Given the description of an element on the screen output the (x, y) to click on. 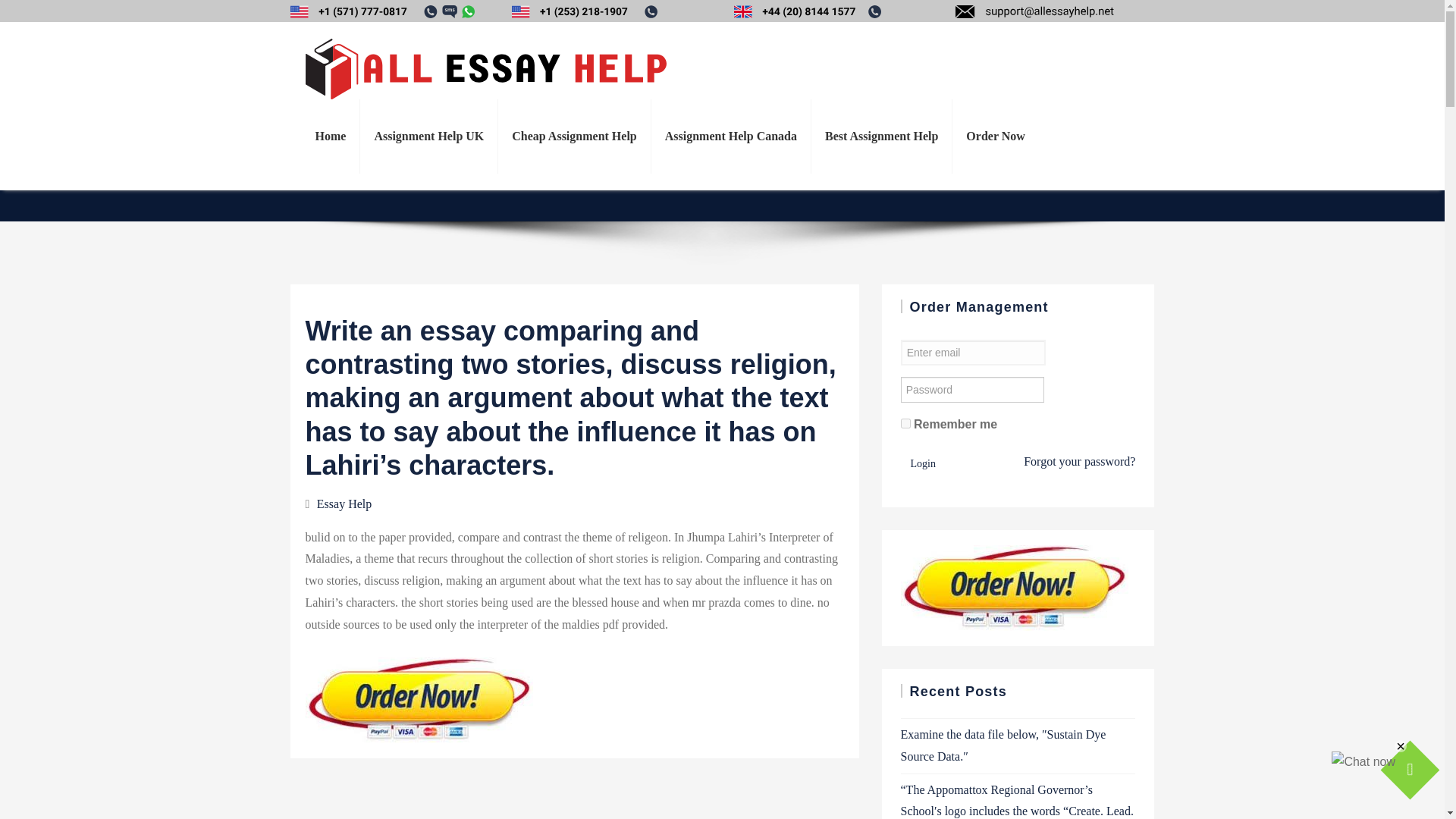
Assignment Help Canada (730, 136)
Cheap Assignment Help (573, 136)
Best Assignment Help (881, 136)
Home (330, 136)
click to Login (922, 463)
Essay Help (344, 665)
Cheap Assignment Help (573, 136)
Order Now (995, 136)
Forgot your password? (1079, 508)
on (906, 423)
Best Assignment Help (881, 136)
Login (922, 519)
Home (330, 136)
Recover password (1079, 461)
Assignment Help Canada (730, 136)
